Given the description of an element on the screen output the (x, y) to click on. 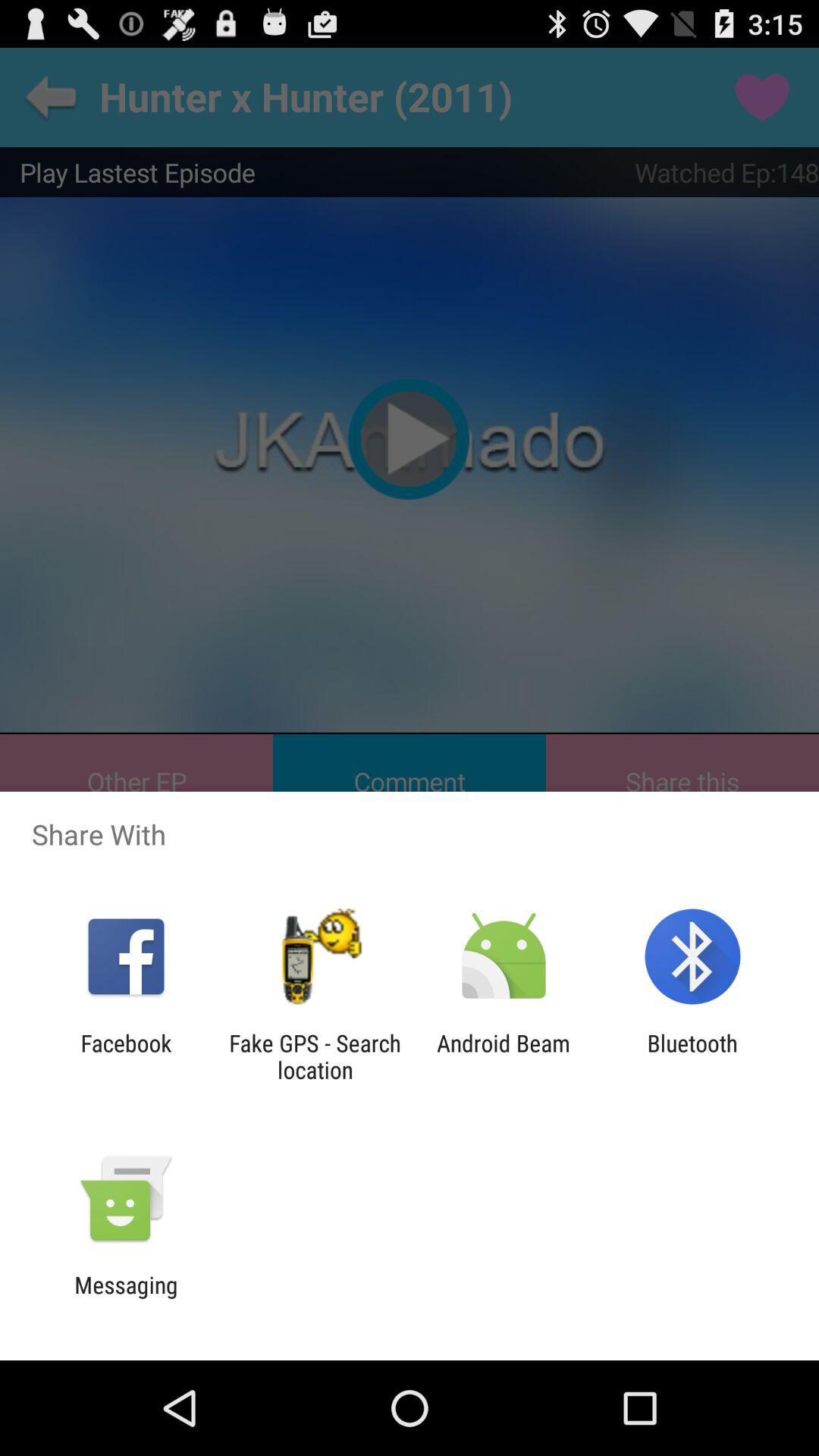
open app to the right of android beam (692, 1056)
